Given the description of an element on the screen output the (x, y) to click on. 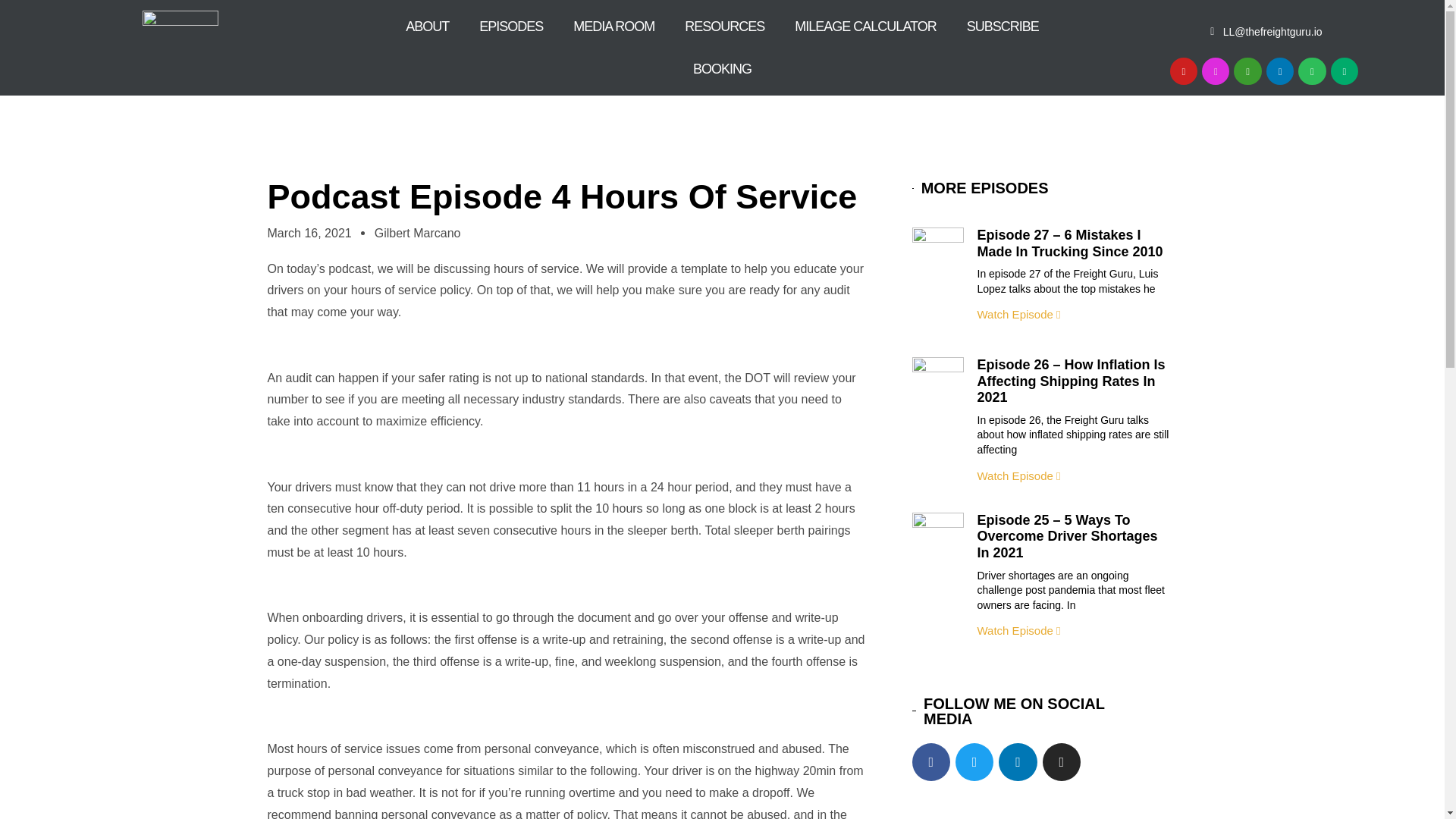
Watch Episode (1017, 630)
MILEAGE CALCULATOR (864, 25)
Watch Episode (1017, 475)
Gilbert Marcano (417, 232)
EPISODES (510, 25)
RESOURCES (723, 25)
March 16, 2021 (308, 232)
MEDIA ROOM (613, 25)
BOOKING (722, 68)
SUBSCRIBE (1003, 25)
